Given the description of an element on the screen output the (x, y) to click on. 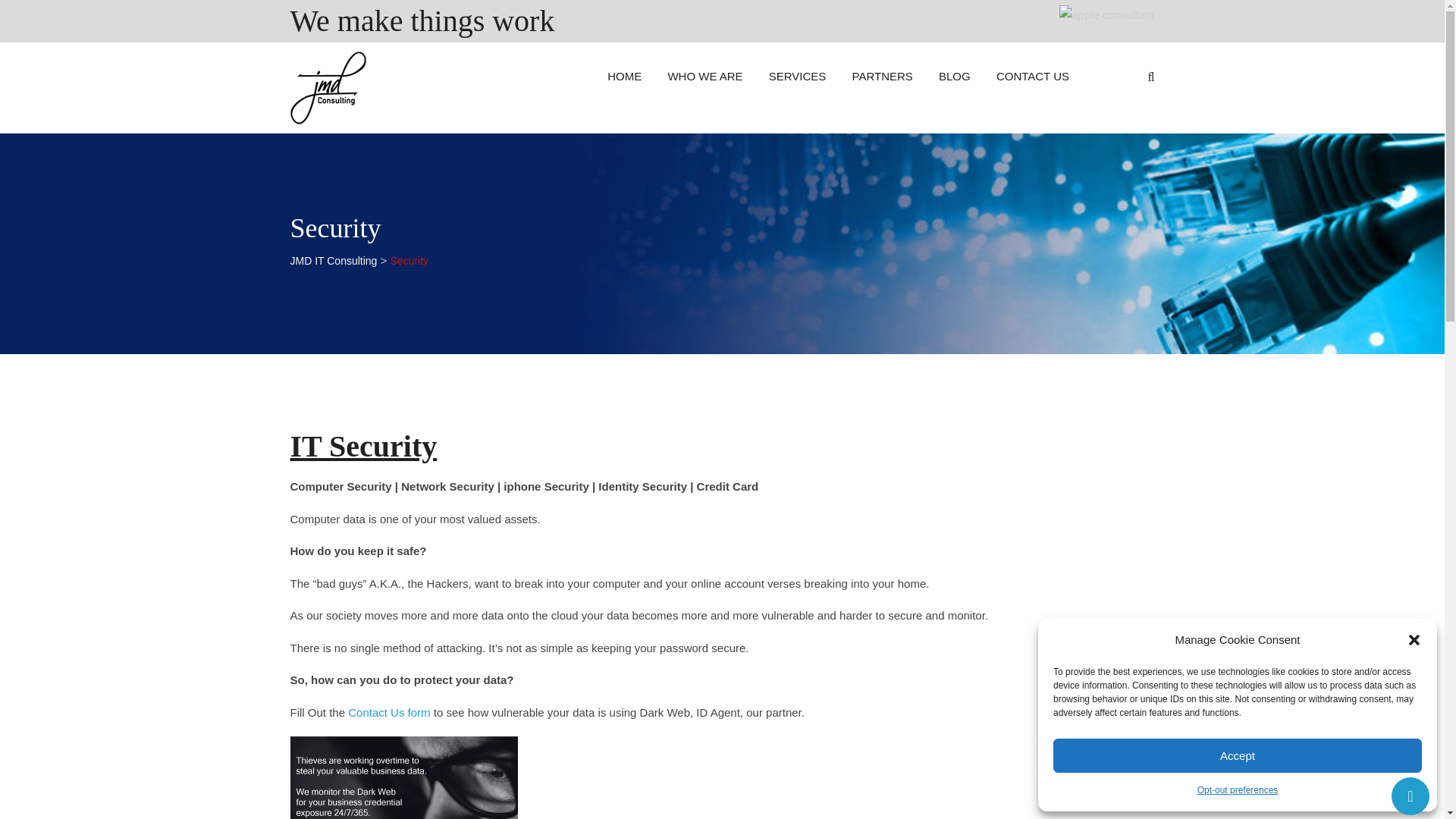
SERVICES (797, 76)
Accept (1237, 755)
Opt-out preferences (1237, 790)
Go to JMD IT Consulting. (333, 260)
CONTACT US (1032, 76)
WHO WE ARE (705, 76)
Contact Us form (388, 712)
PARTNERS (882, 76)
JMD IT Consulting (333, 260)
